Given the description of an element on the screen output the (x, y) to click on. 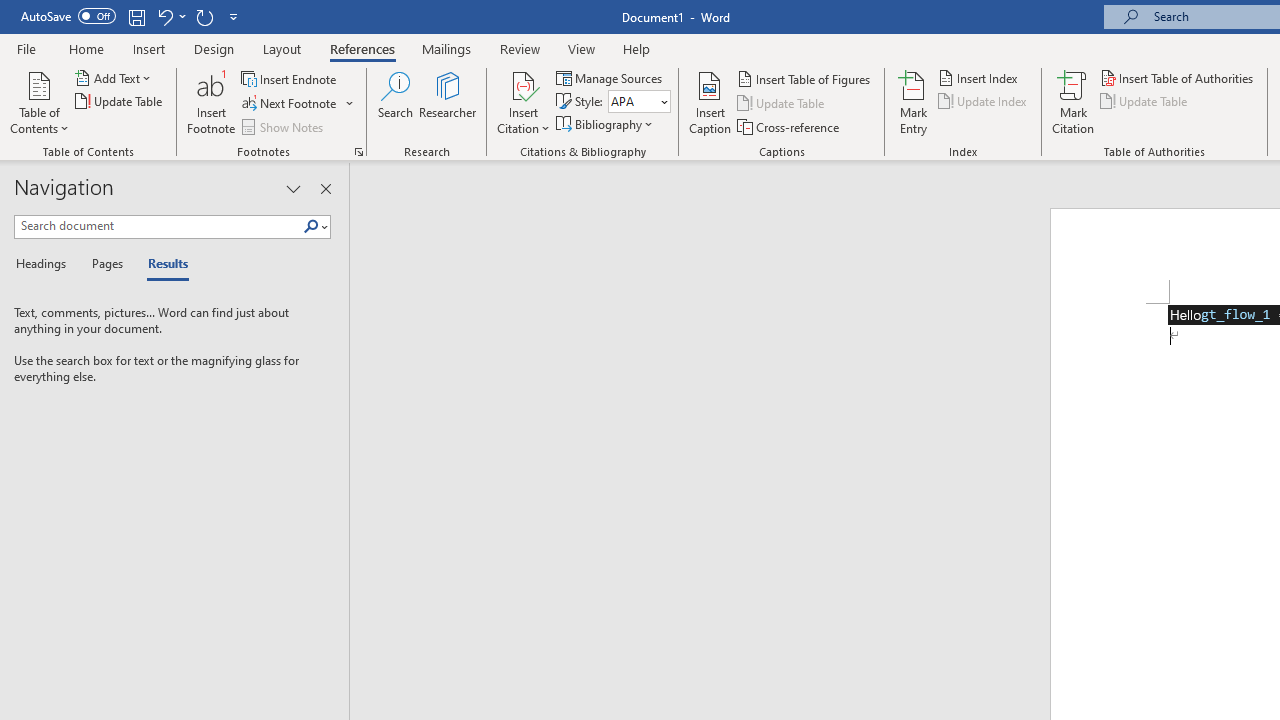
Update Index (984, 101)
Layout (282, 48)
Mailings (447, 48)
Update Table... (119, 101)
Pages (105, 264)
Save (136, 15)
Results (161, 264)
File Tab (26, 48)
Help (637, 48)
View (582, 48)
